Given the description of an element on the screen output the (x, y) to click on. 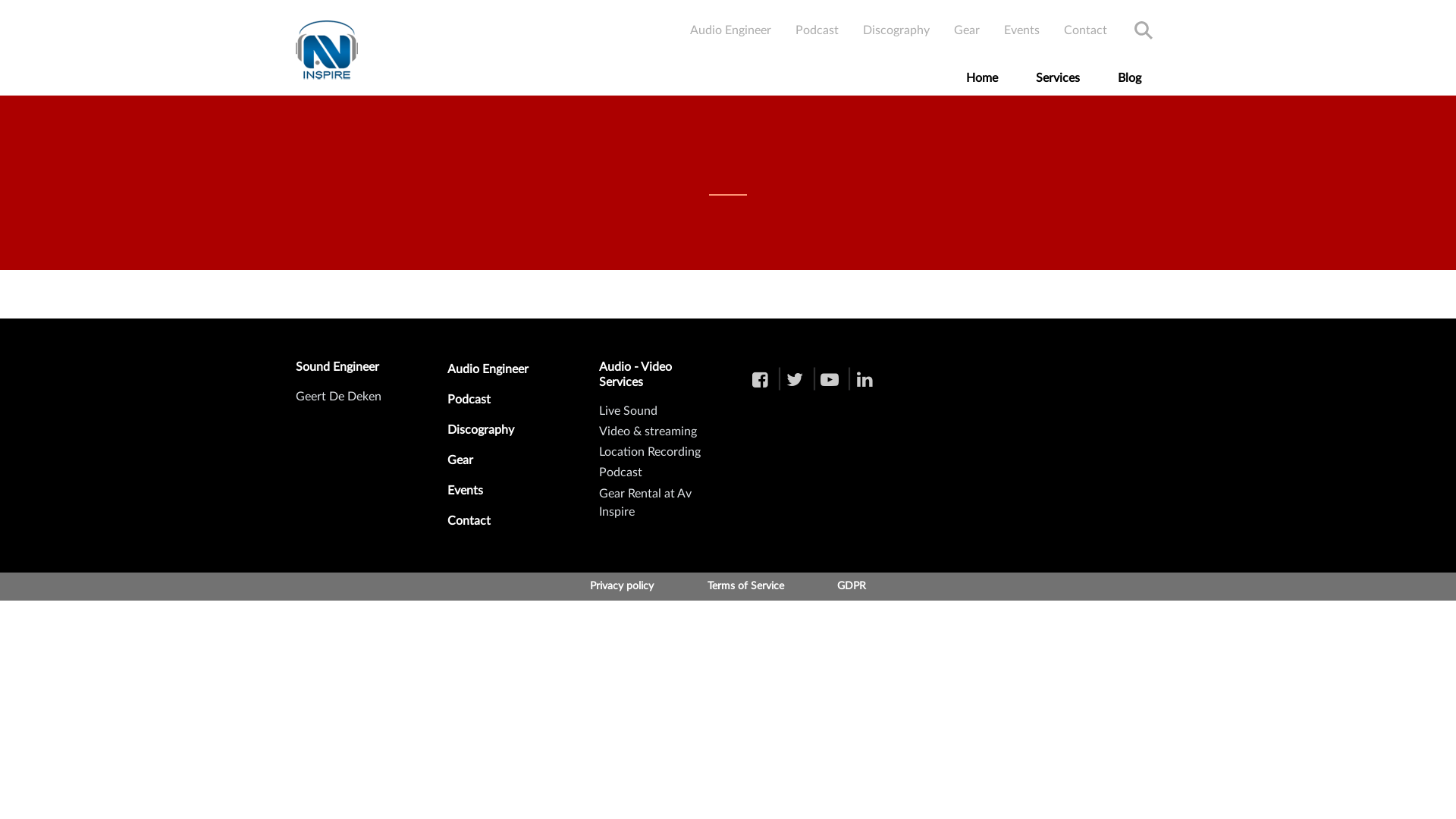
Audio Engineer Element type: text (500, 375)
Services Element type: text (1057, 77)
Contact Element type: text (500, 526)
Gear Element type: text (500, 466)
Gear Rental at Av Inspire Element type: text (645, 502)
Events Element type: text (500, 496)
Audio Engineer Element type: text (730, 30)
Contact Element type: text (1085, 30)
Terms of Service Element type: text (744, 586)
Podcast Element type: text (816, 30)
Podcast Element type: text (620, 472)
Skip to the home page Element type: hover (326, 50)
Search Element type: text (1143, 30)
Podcast Element type: text (500, 405)
Gear Element type: text (966, 30)
Blog Element type: text (1129, 77)
Location Recording Element type: text (649, 451)
Privacy policy Element type: text (621, 586)
Events Element type: text (1021, 30)
Discography Element type: text (895, 30)
Home Element type: text (981, 77)
GDPR Element type: text (851, 586)
Aller au contenu principal Element type: text (727, 1)
Live Sound Element type: text (628, 410)
Discography Element type: text (500, 435)
